Given the description of an element on the screen output the (x, y) to click on. 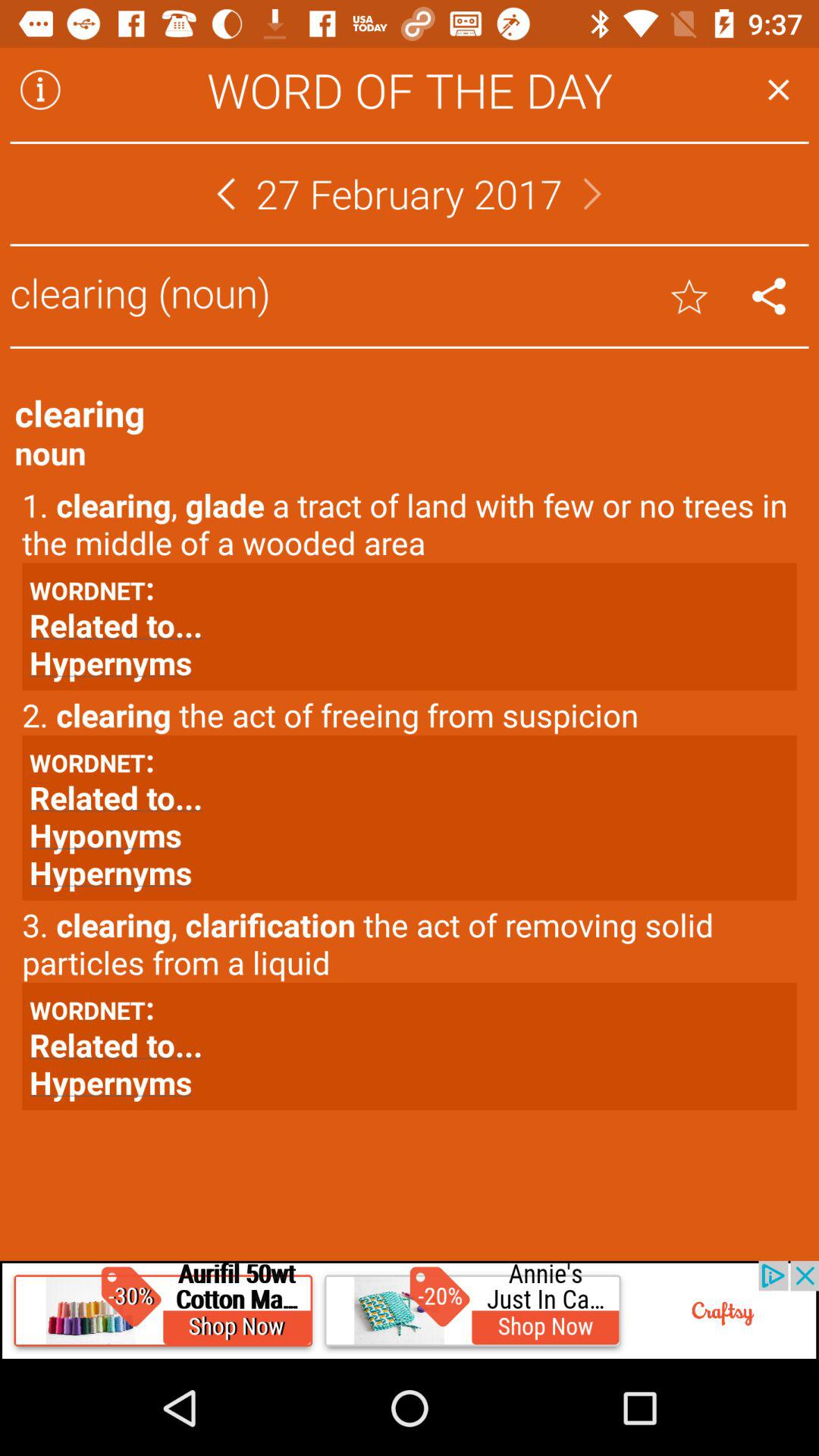
go back (225, 193)
